Given the description of an element on the screen output the (x, y) to click on. 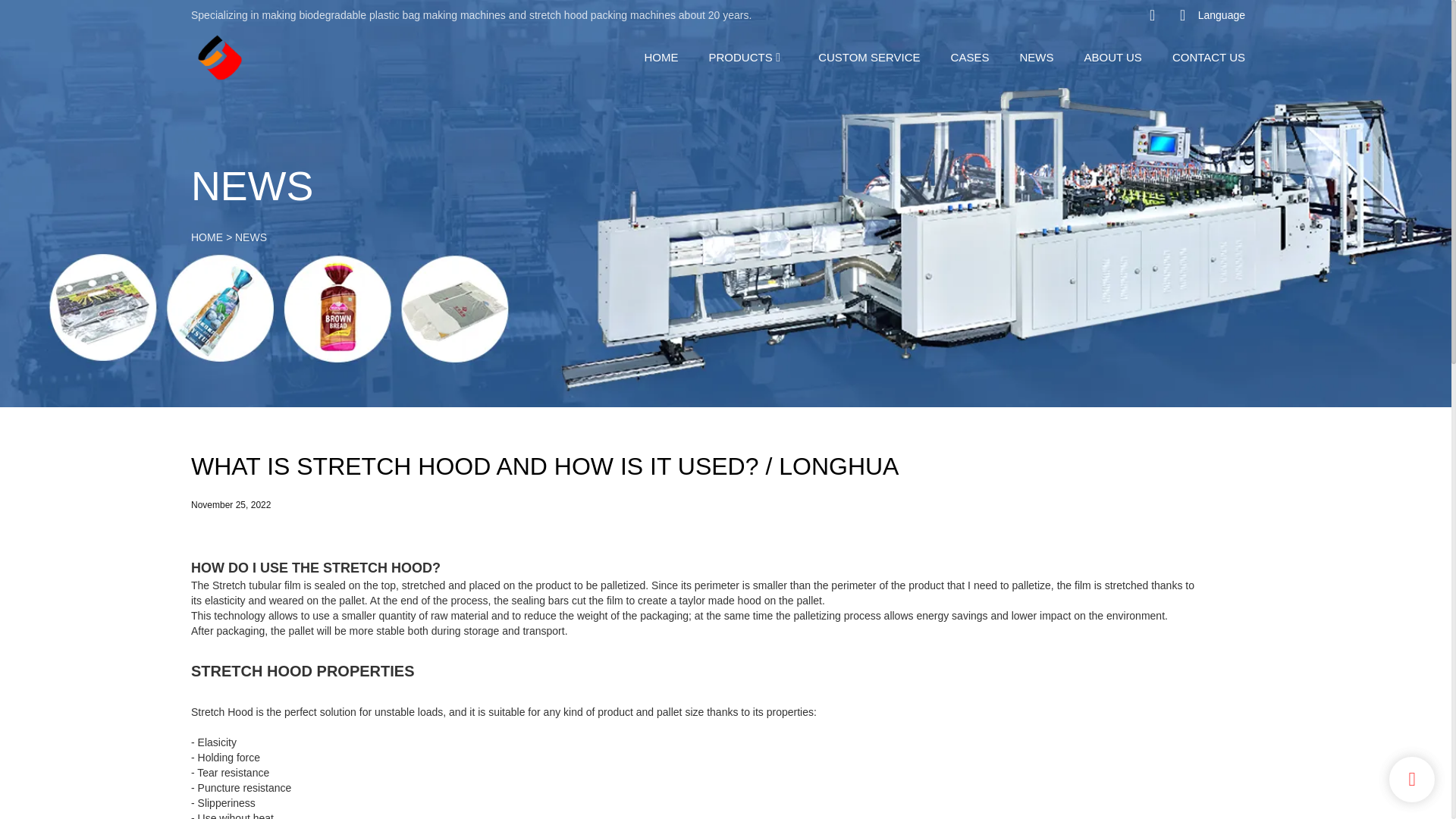
NEWS (1035, 56)
CUSTOM SERVICE (869, 56)
HOME (206, 236)
CONTACT US (1208, 56)
HOME (661, 56)
PRODUCTS (739, 56)
ABOUT US (1112, 56)
CASES (970, 56)
NEWS (250, 236)
